Given the description of an element on the screen output the (x, y) to click on. 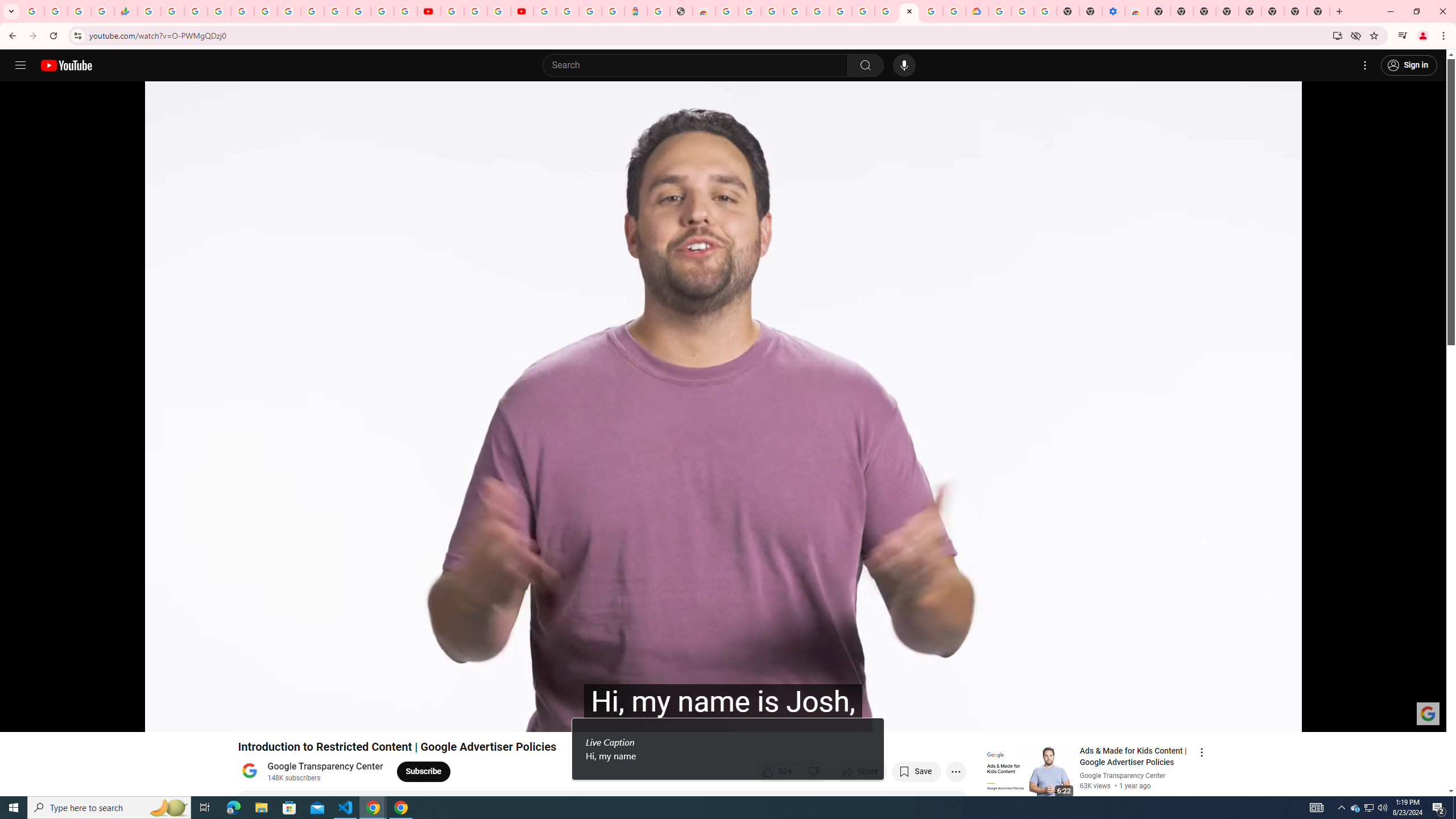
Full screen (f) (1425, 718)
Atour Hotel - Google hotels (635, 11)
Sign in - Google Accounts (545, 11)
Sign in - Google Accounts (817, 11)
Google Transparency Center (325, 766)
Privacy Checkup (405, 11)
Control your music, videos, and more (1402, 35)
Sign in - Google Accounts (335, 11)
Autoplay is on (1289, 718)
Channel watermark (1427, 713)
Android TV Policies and Guidelines - Transparency Center (288, 11)
Create your Google Account (498, 11)
